Given the description of an element on the screen output the (x, y) to click on. 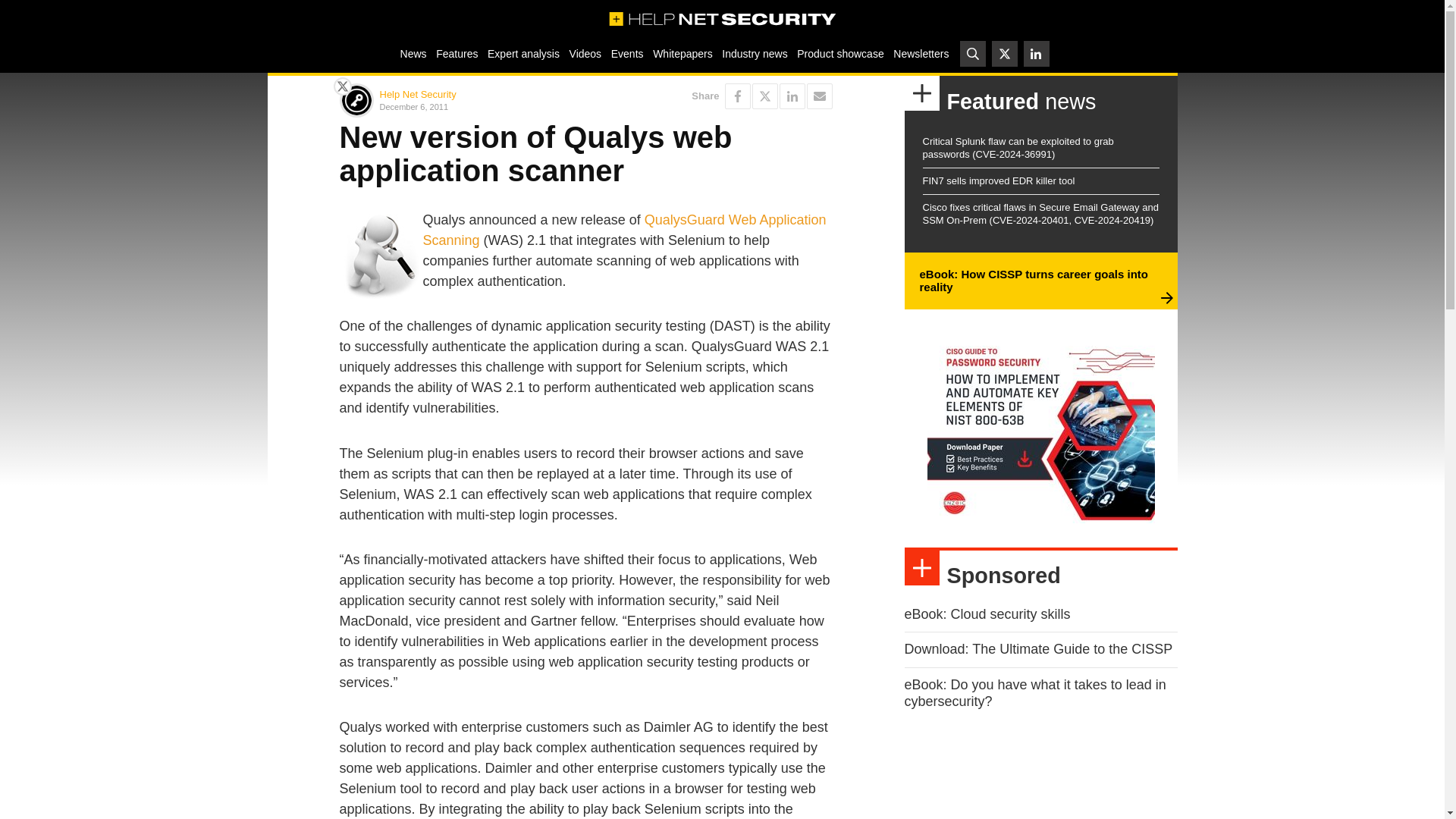
Events (626, 53)
December 6, 2011 (478, 106)
eBook: How CISSP turns career goals into reality (1032, 280)
Help Net Security (416, 93)
Product showcase (840, 53)
Industry news (754, 53)
Newsletters (920, 53)
Features (456, 53)
QualysGuard Web Application Scanning (625, 230)
Download: The Ultimate Guide to the CISSP (1038, 648)
News (412, 53)
eBook: Cloud security skills (987, 613)
